Given the description of an element on the screen output the (x, y) to click on. 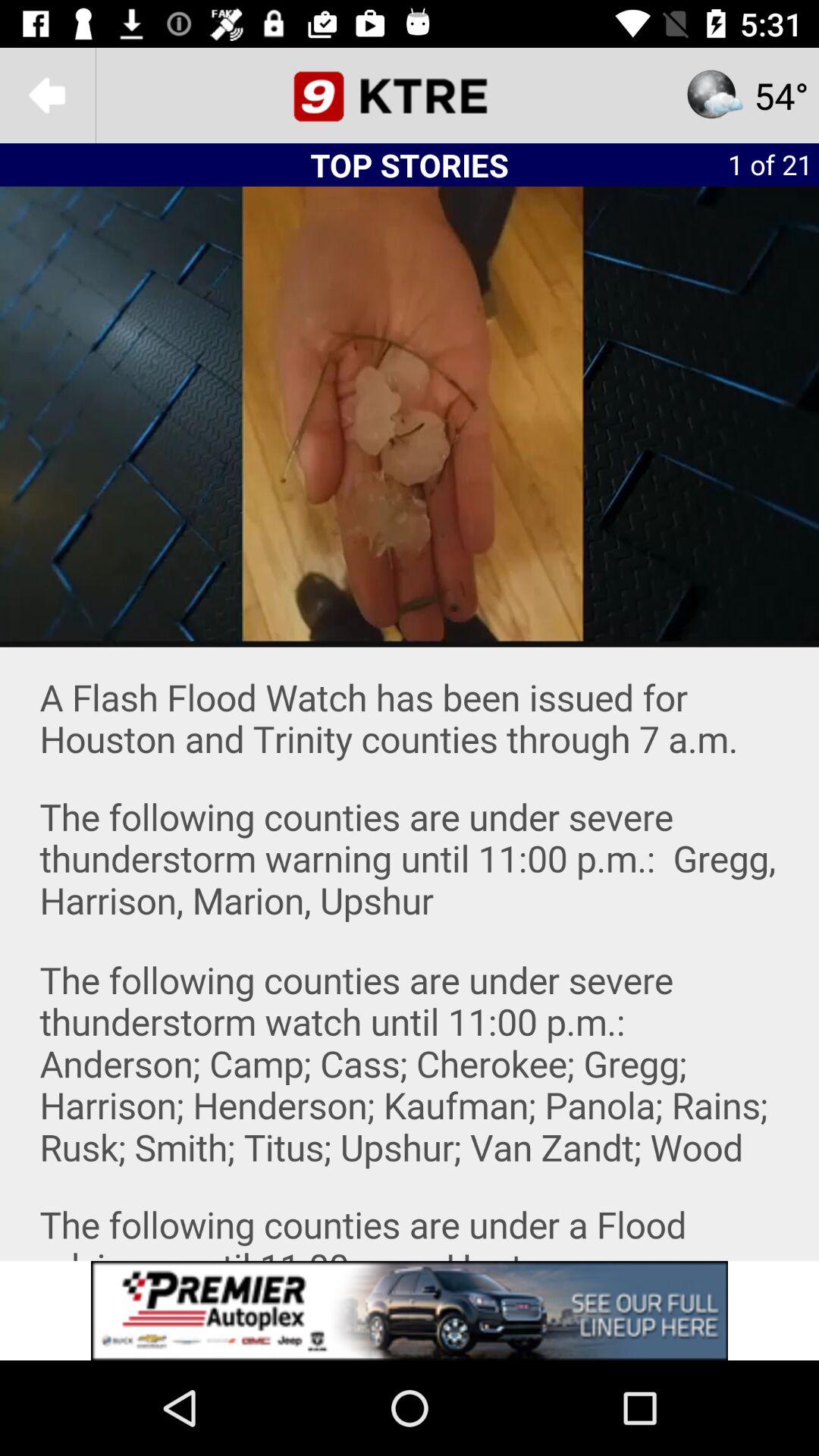
open advertisement (409, 1310)
